Given the description of an element on the screen output the (x, y) to click on. 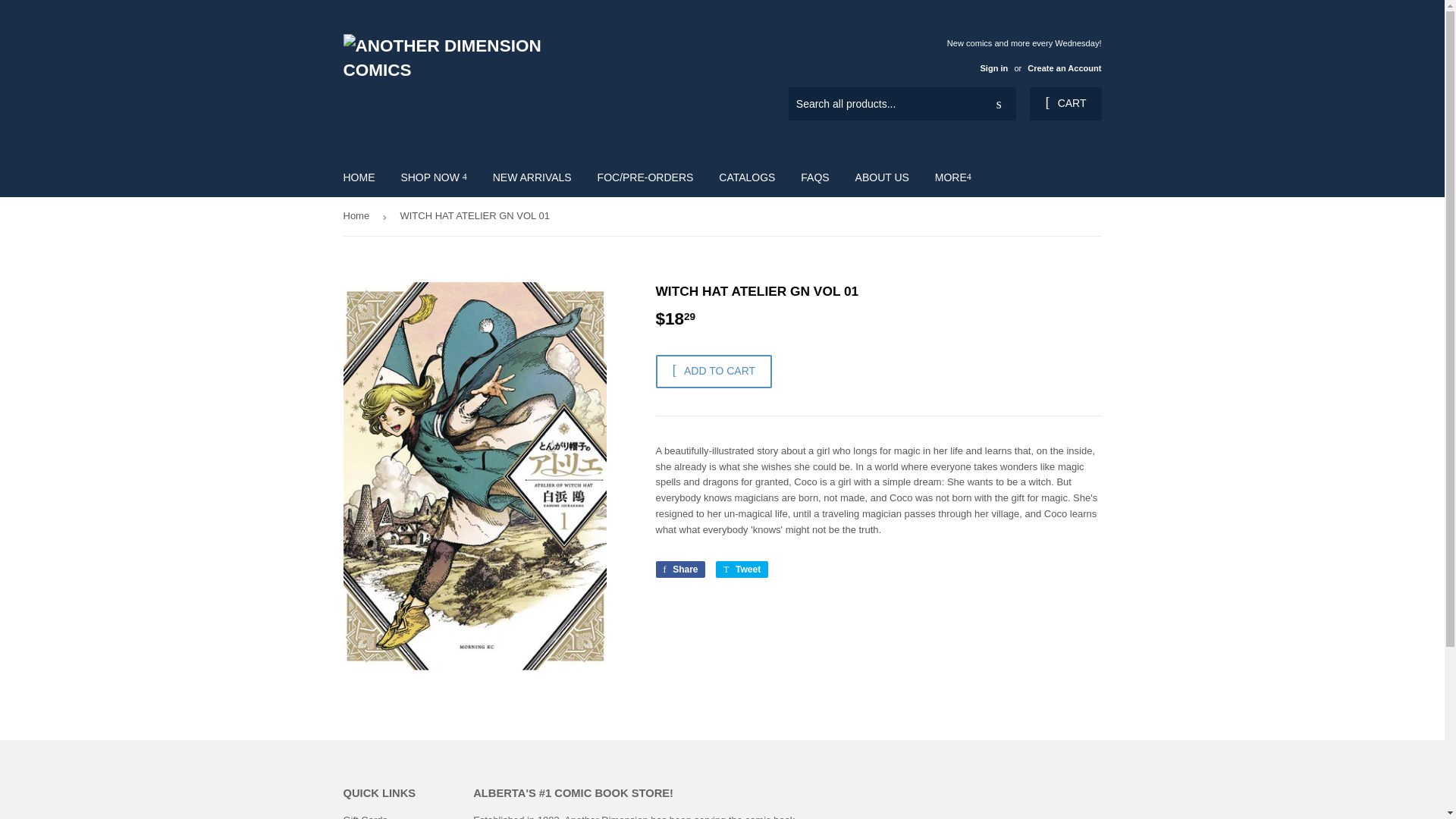
Sign in (993, 67)
Tweet on Twitter (742, 569)
HOME (359, 177)
Create an Account (1063, 67)
CART (1064, 103)
Share on Facebook (679, 569)
Search (998, 104)
SHOP NOW (432, 177)
